Given the description of an element on the screen output the (x, y) to click on. 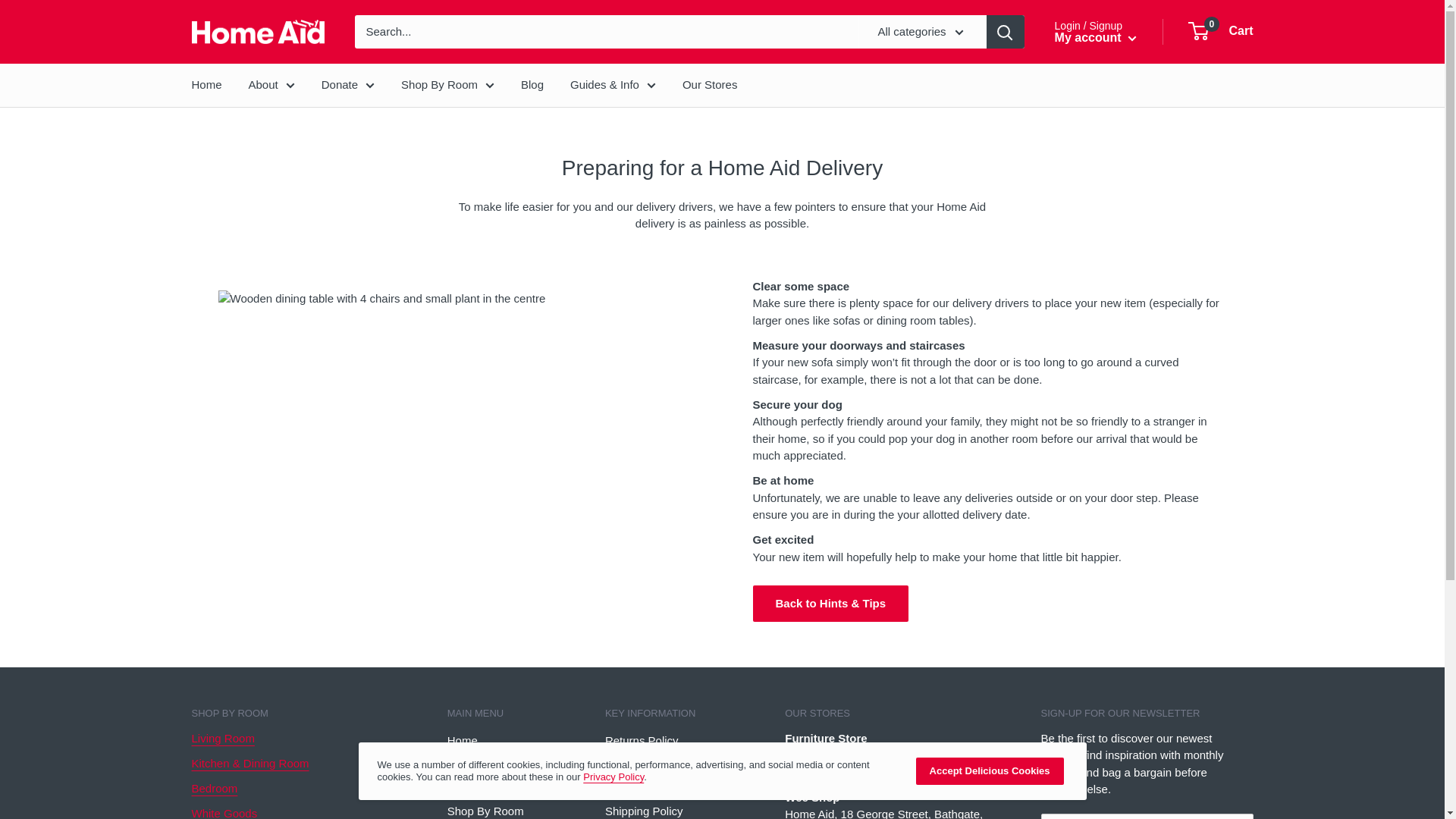
White goods (223, 812)
Living Room (221, 738)
Home Aid (256, 32)
Bedroom (213, 788)
Privacy Policy (613, 776)
